Given the description of an element on the screen output the (x, y) to click on. 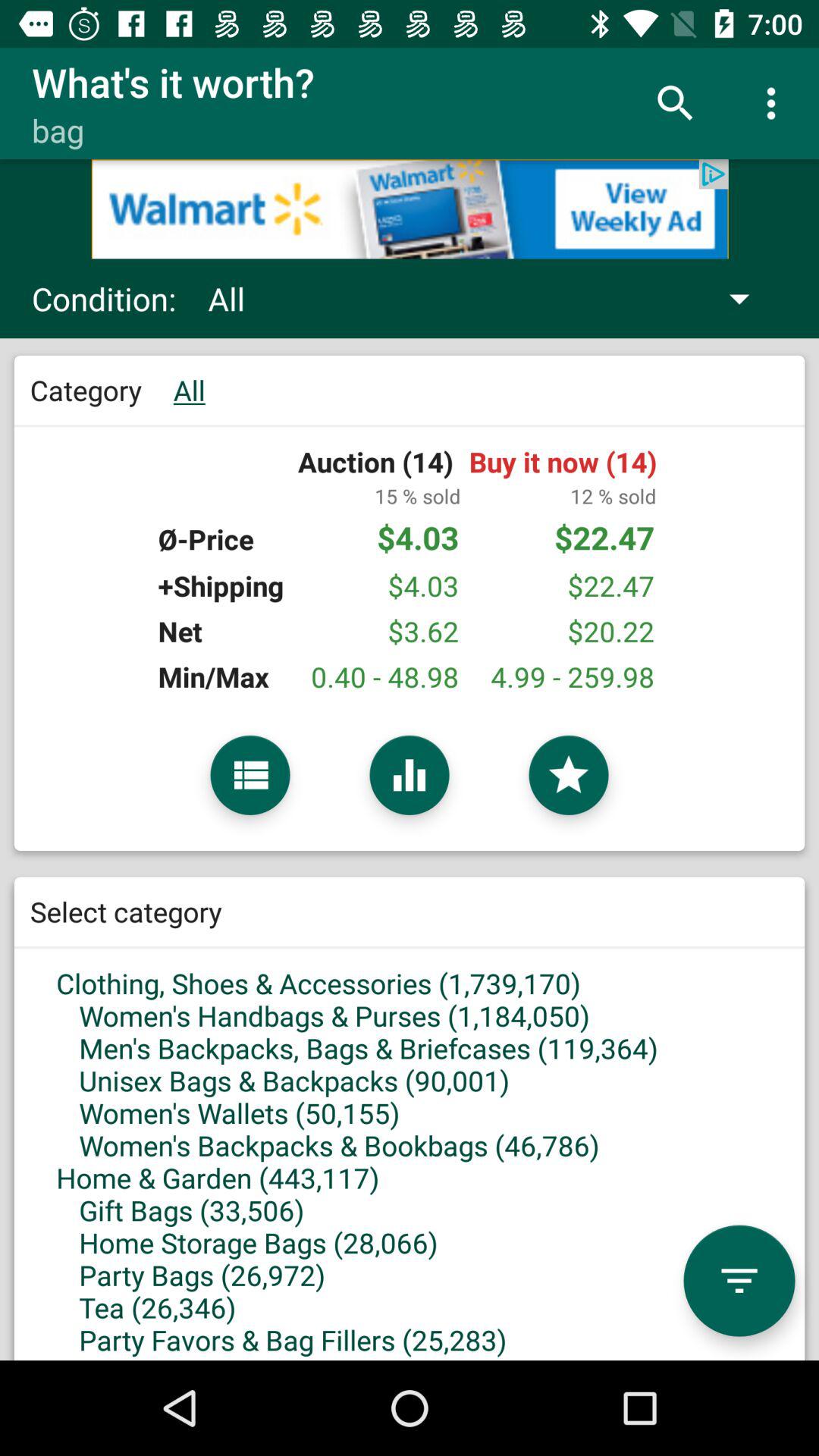
advertisement (409, 208)
